Given the description of an element on the screen output the (x, y) to click on. 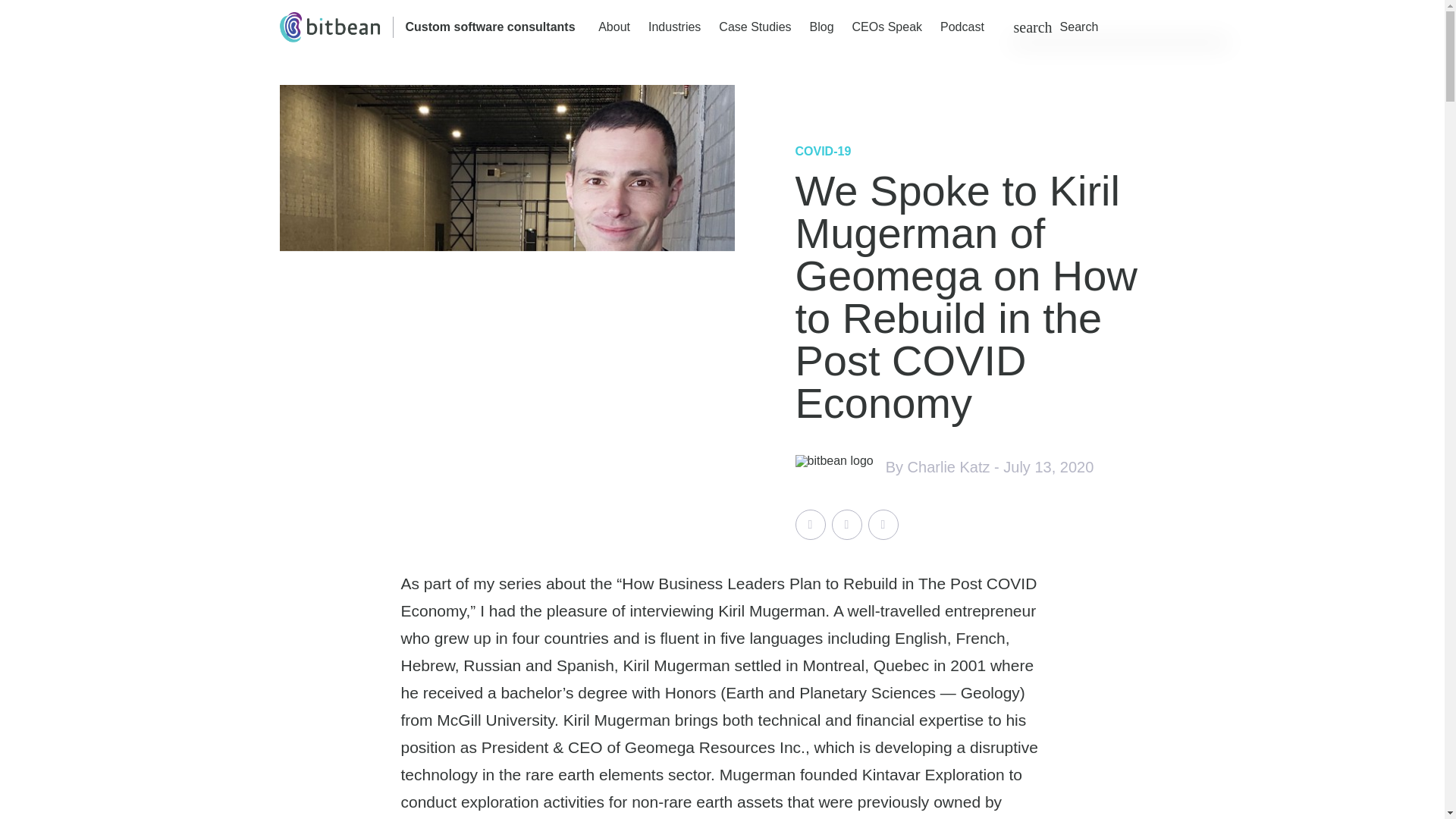
Share on Facebook (846, 524)
Charlie Katz (948, 466)
Podcast (962, 26)
Share on Twitter (809, 524)
Share via Email (882, 524)
CEOs Speak (886, 26)
Case Studies (754, 26)
Custom software consultants (490, 26)
Blog (821, 26)
About (614, 26)
